Given the description of an element on the screen output the (x, y) to click on. 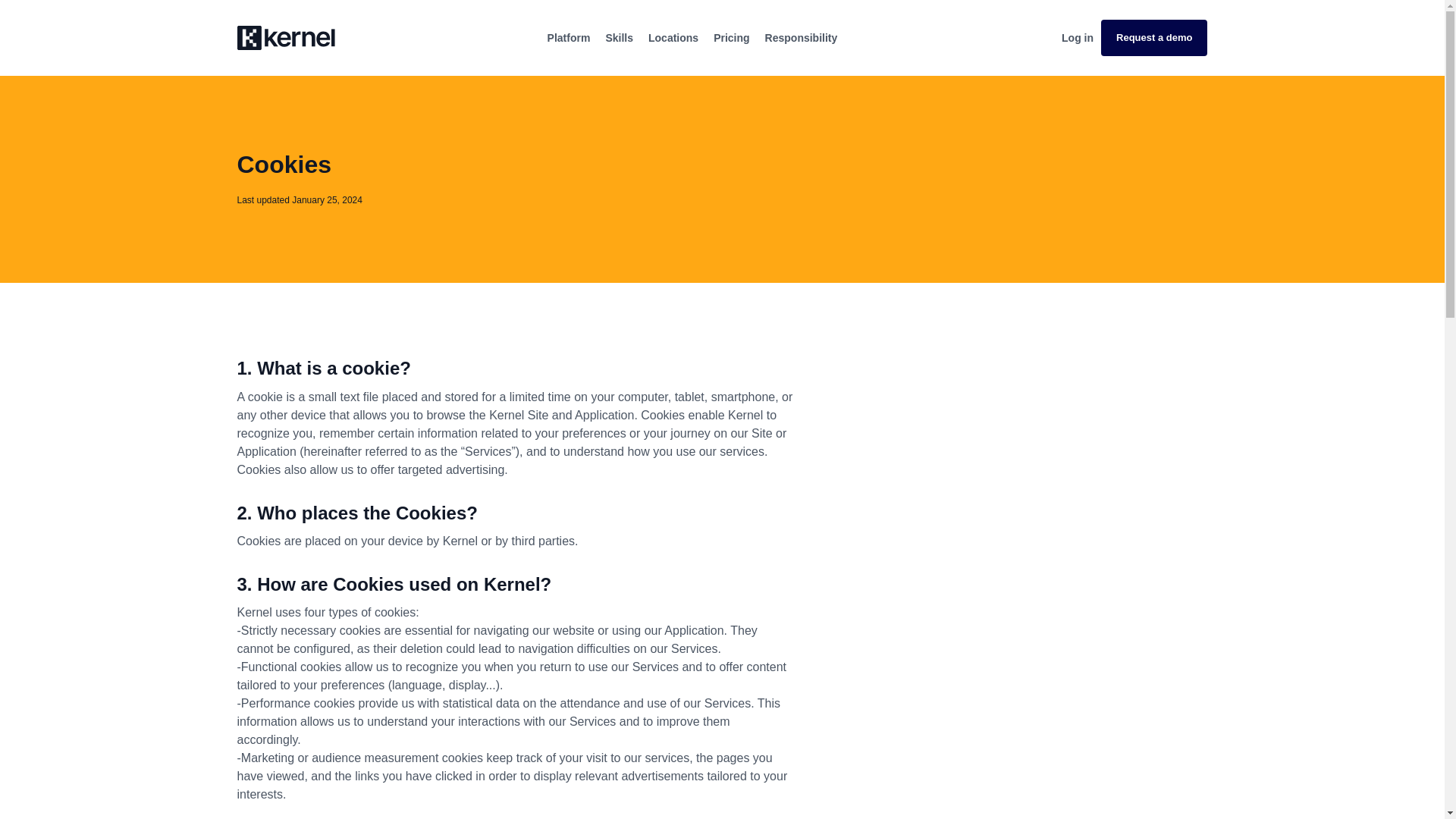
Pricing (731, 37)
Request a demo (1153, 37)
Responsibility (801, 37)
Platform (569, 37)
Locations (672, 37)
Log in (1077, 37)
Skills (619, 37)
